Given the description of an element on the screen output the (x, y) to click on. 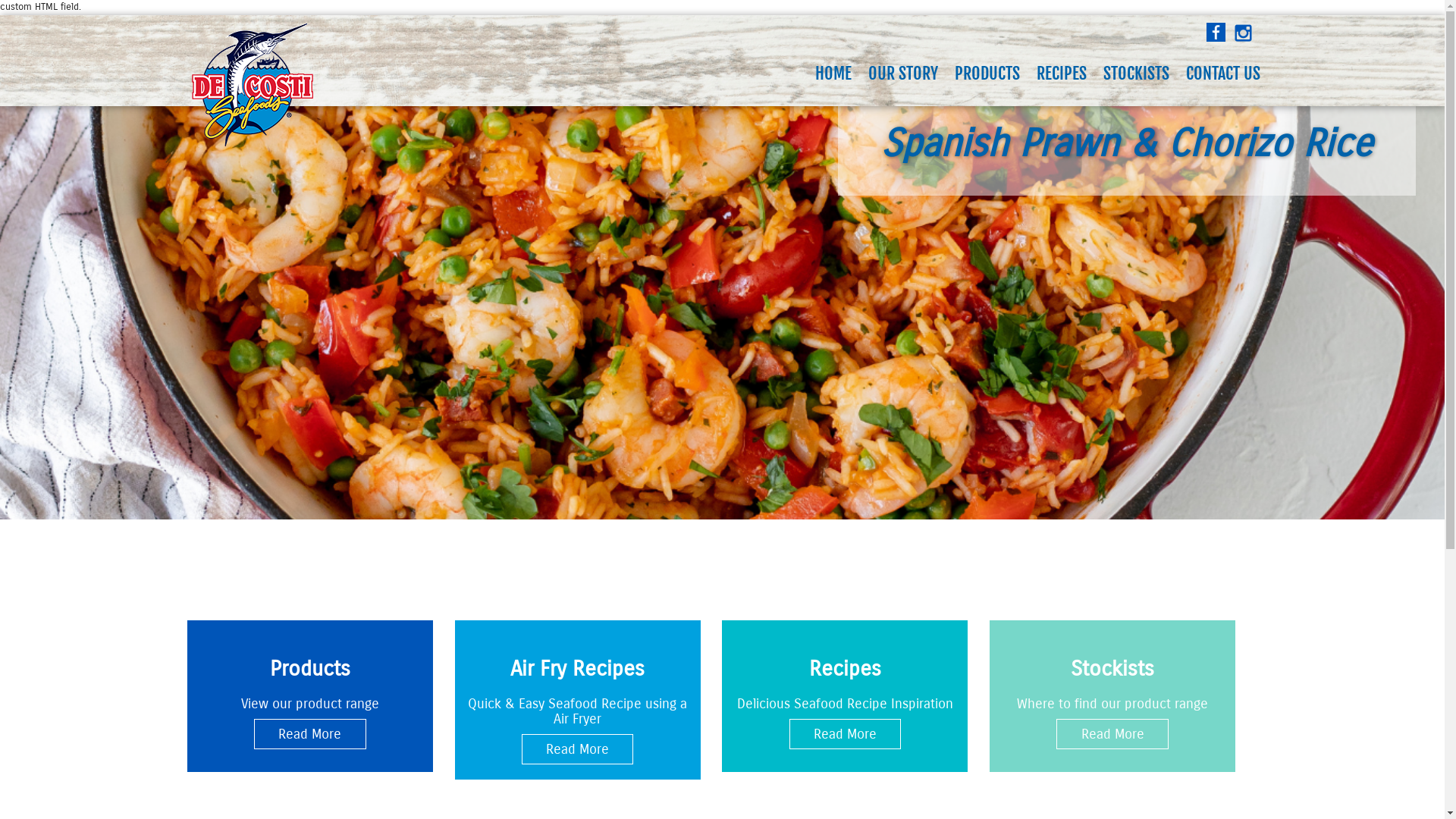
OUR STORY Element type: text (902, 73)
HOME Element type: text (832, 73)
Stockists
Where to find our product range
Read More Element type: text (1112, 695)
Products
View our product range
Read More Element type: text (310, 695)
Spanish Prawn & Chorizo Rice Element type: text (722, 312)
STOCKISTS Element type: text (1136, 73)
Recipes
Delicious Seafood Recipe Inspiration
Read More Element type: text (844, 695)
Decosti Seafoods Element type: hover (251, 84)
PRODUCTS Element type: text (987, 73)
RECIPES Element type: text (1061, 73)
CONTACT US Element type: text (1221, 73)
